Given the description of an element on the screen output the (x, y) to click on. 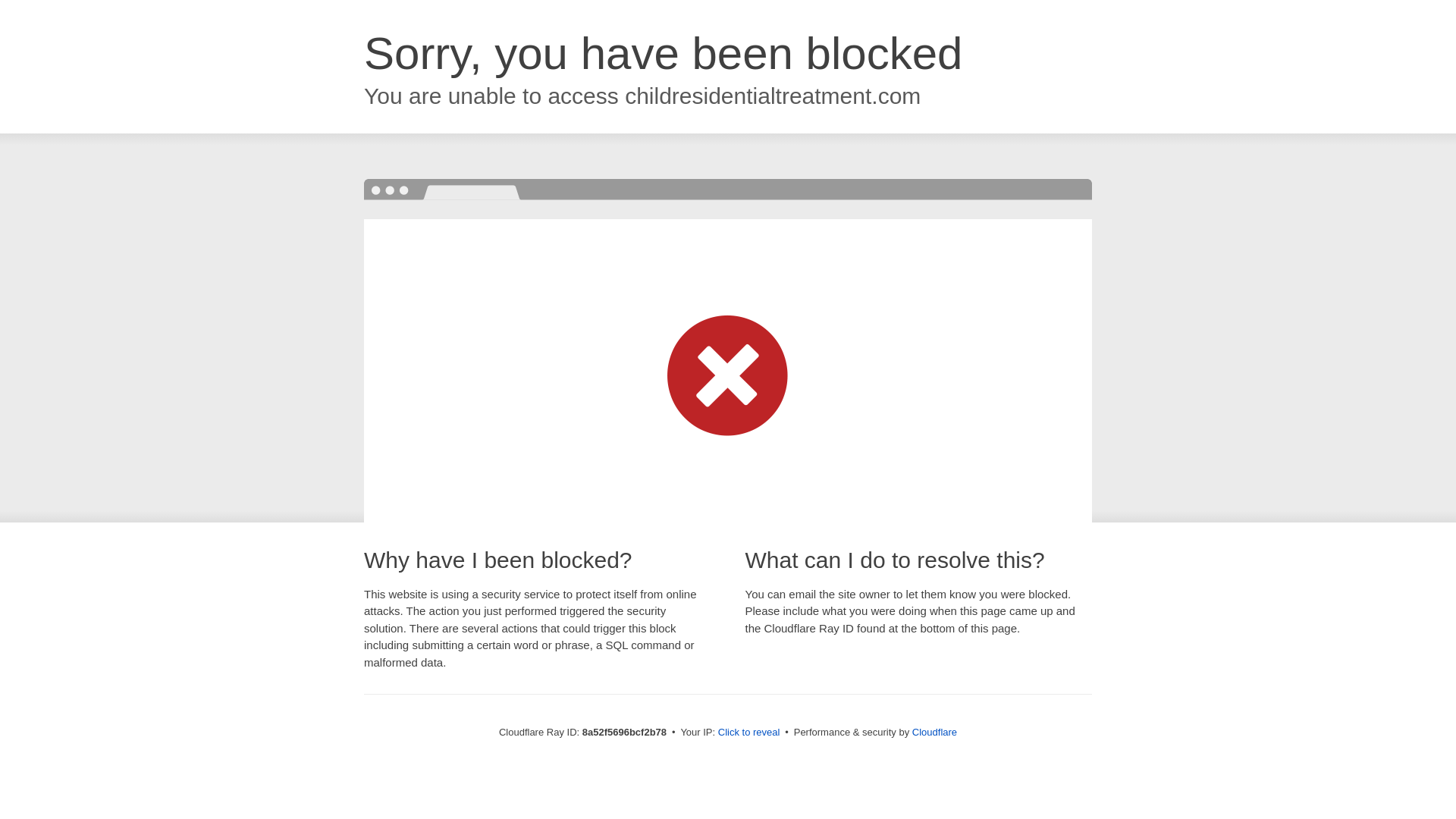
Click to reveal (748, 732)
Cloudflare (934, 731)
